Given the description of an element on the screen output the (x, y) to click on. 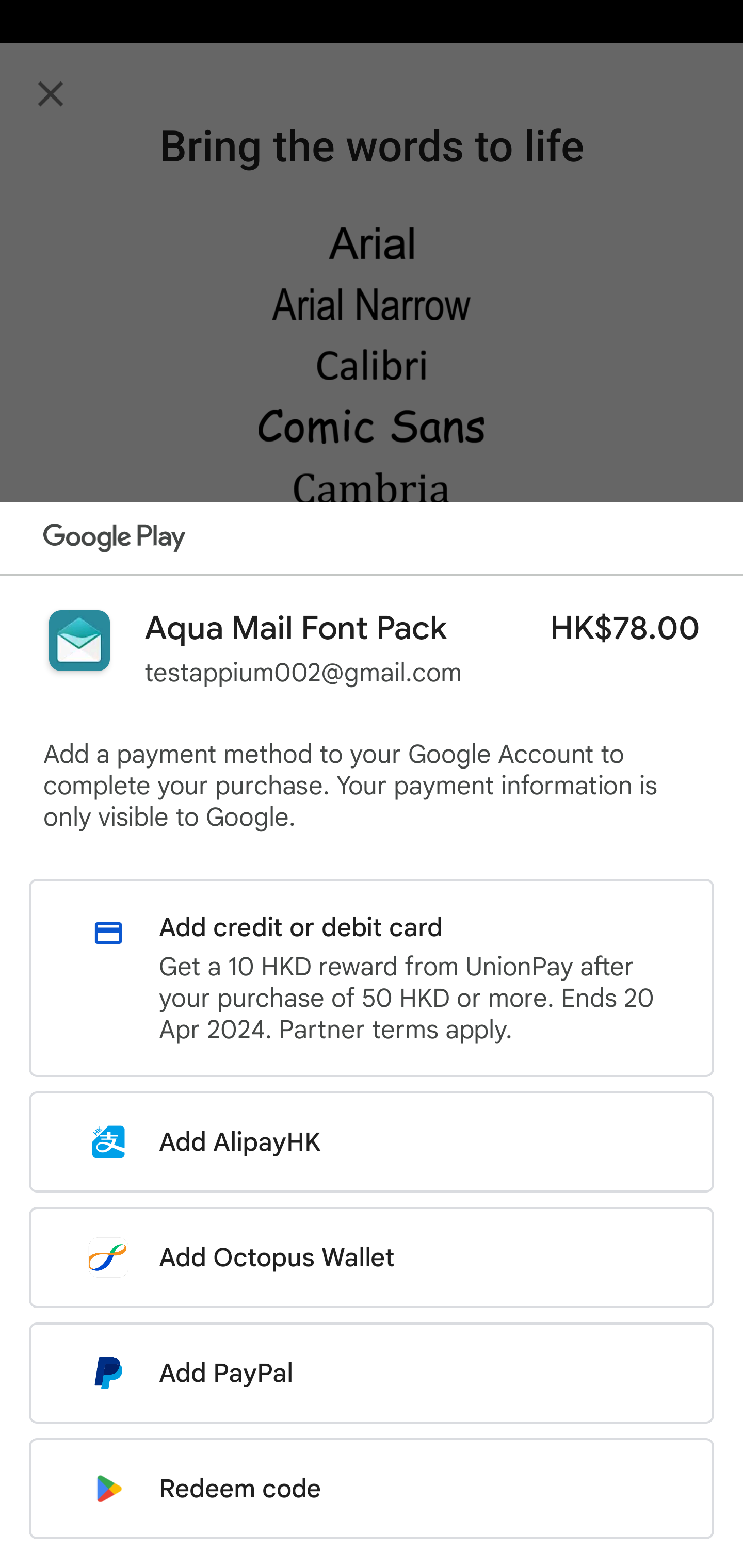
Add AlipayHK (371, 1142)
Add Octopus Wallet (371, 1257)
Add PayPal (371, 1372)
Redeem code (371, 1488)
